Given the description of an element on the screen output the (x, y) to click on. 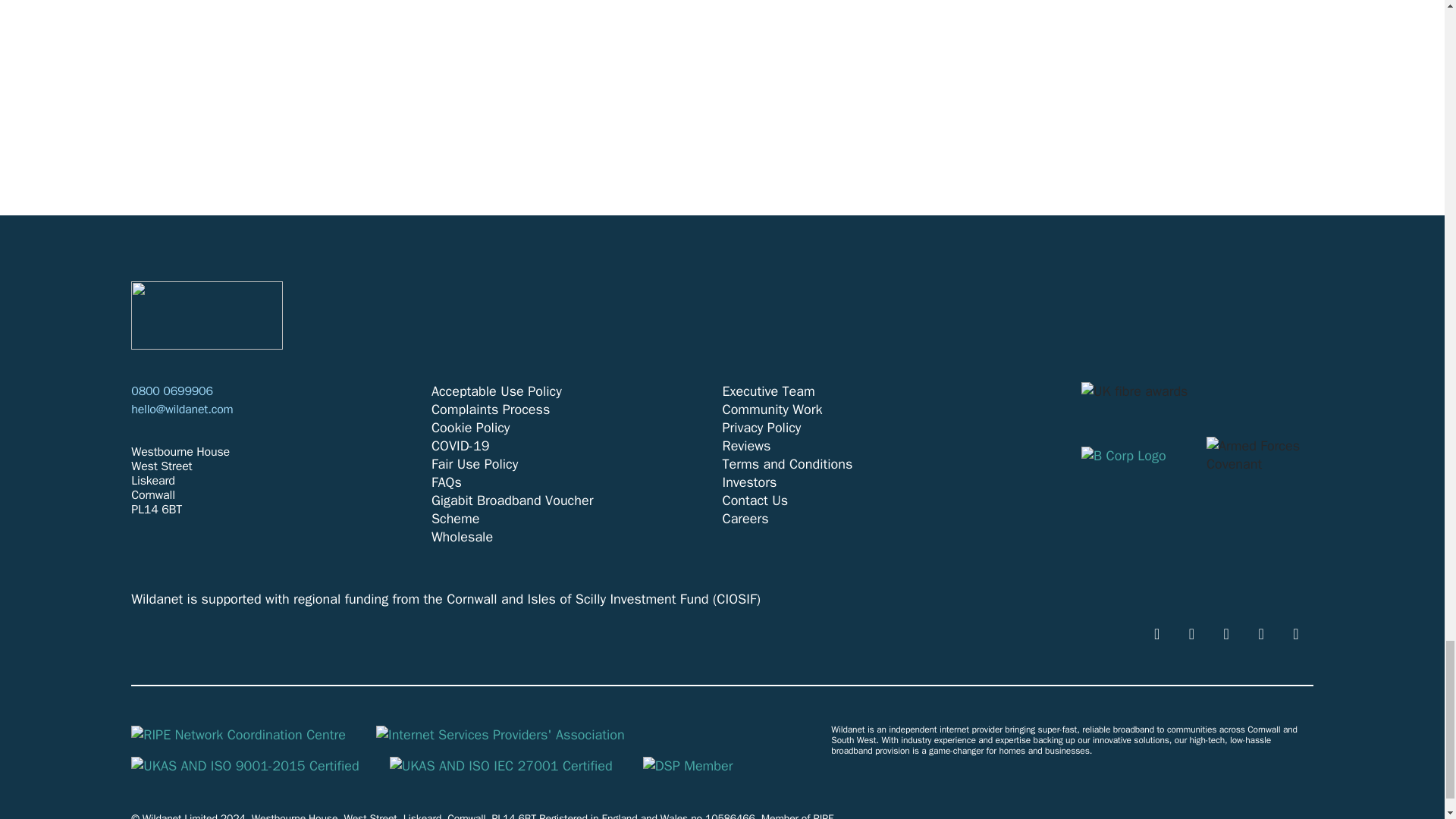
Facebook (1191, 633)
Instagram (1295, 633)
LinkedIn (1261, 633)
Wildanet Logo (206, 315)
Twitter (1226, 633)
YouTube (1156, 633)
